Given the description of an element on the screen output the (x, y) to click on. 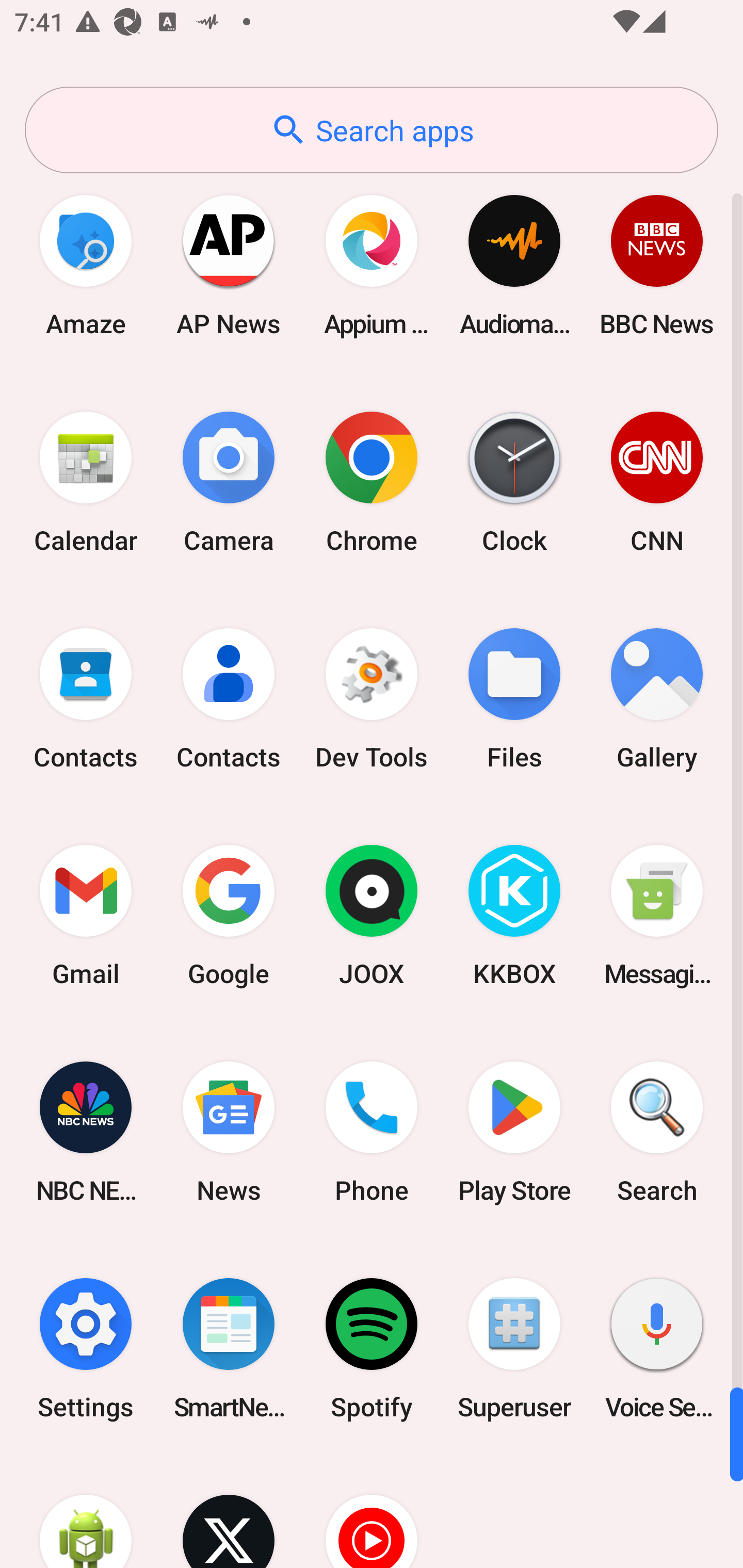
  Search apps (371, 130)
Amaze (85, 264)
AP News (228, 264)
Appium Settings (371, 264)
Audio­mack (514, 264)
BBC News (656, 264)
Calendar (85, 482)
Camera (228, 482)
Chrome (371, 482)
Clock (514, 482)
CNN (656, 482)
Contacts (85, 699)
Contacts (228, 699)
Dev Tools (371, 699)
Files (514, 699)
Gallery (656, 699)
Gmail (85, 915)
Google (228, 915)
JOOX (371, 915)
KKBOX (514, 915)
Messaging (656, 915)
NBC NEWS (85, 1131)
News (228, 1131)
Phone (371, 1131)
Play Store (514, 1131)
Search (656, 1131)
Settings (85, 1348)
SmartNews (228, 1348)
Spotify (371, 1348)
Superuser (514, 1348)
Voice Search (656, 1348)
